Given the description of an element on the screen output the (x, y) to click on. 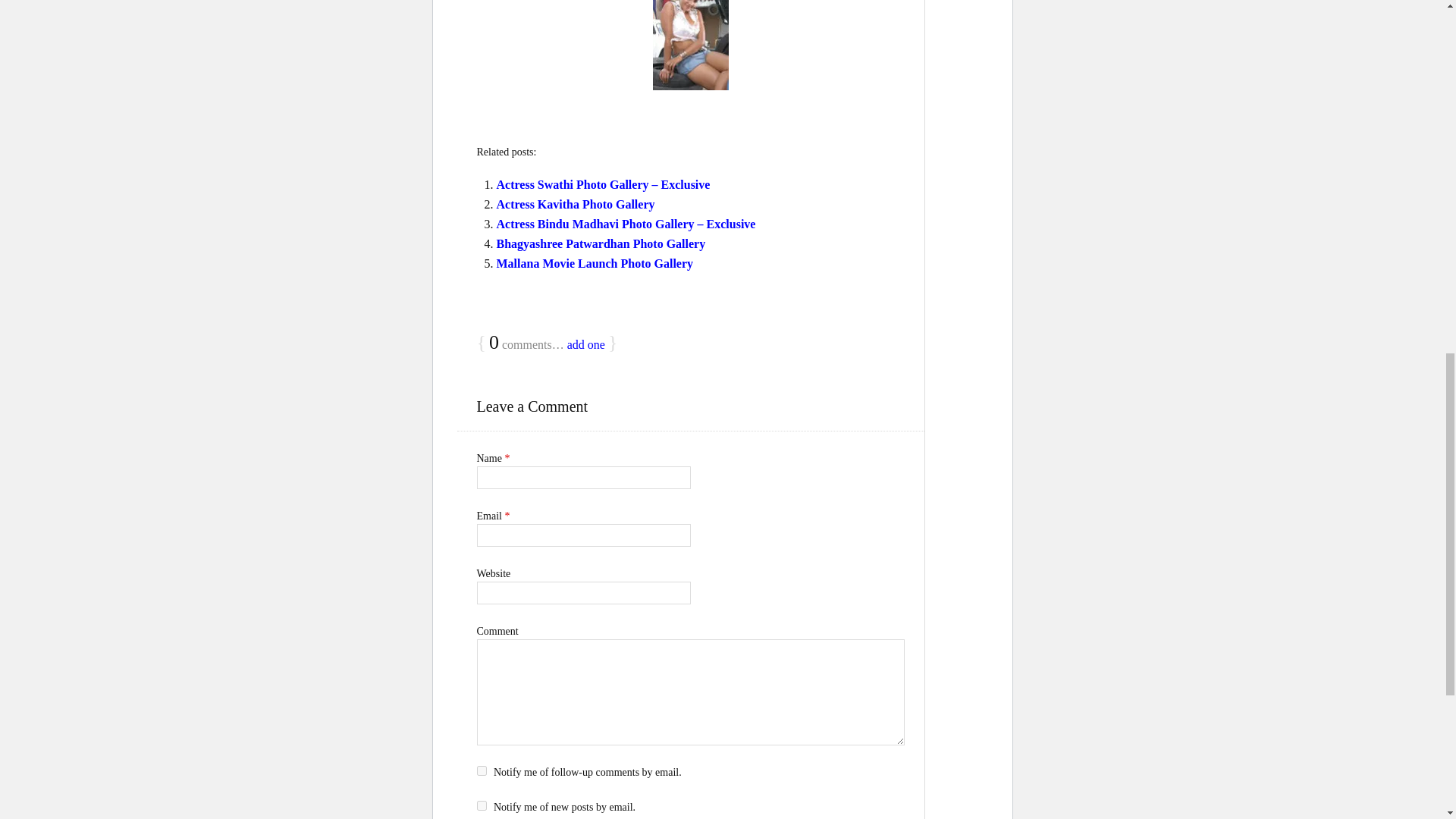
Actress Kavitha Photo Gallery (574, 204)
Actress Kavitha Photo Gallery (574, 204)
subscribe (481, 805)
add one (586, 344)
Mallana Movie Launch Photo Gallery (594, 263)
subscribe (481, 770)
Mallana Movie Launch Photo Gallery (594, 263)
